Given the description of an element on the screen output the (x, y) to click on. 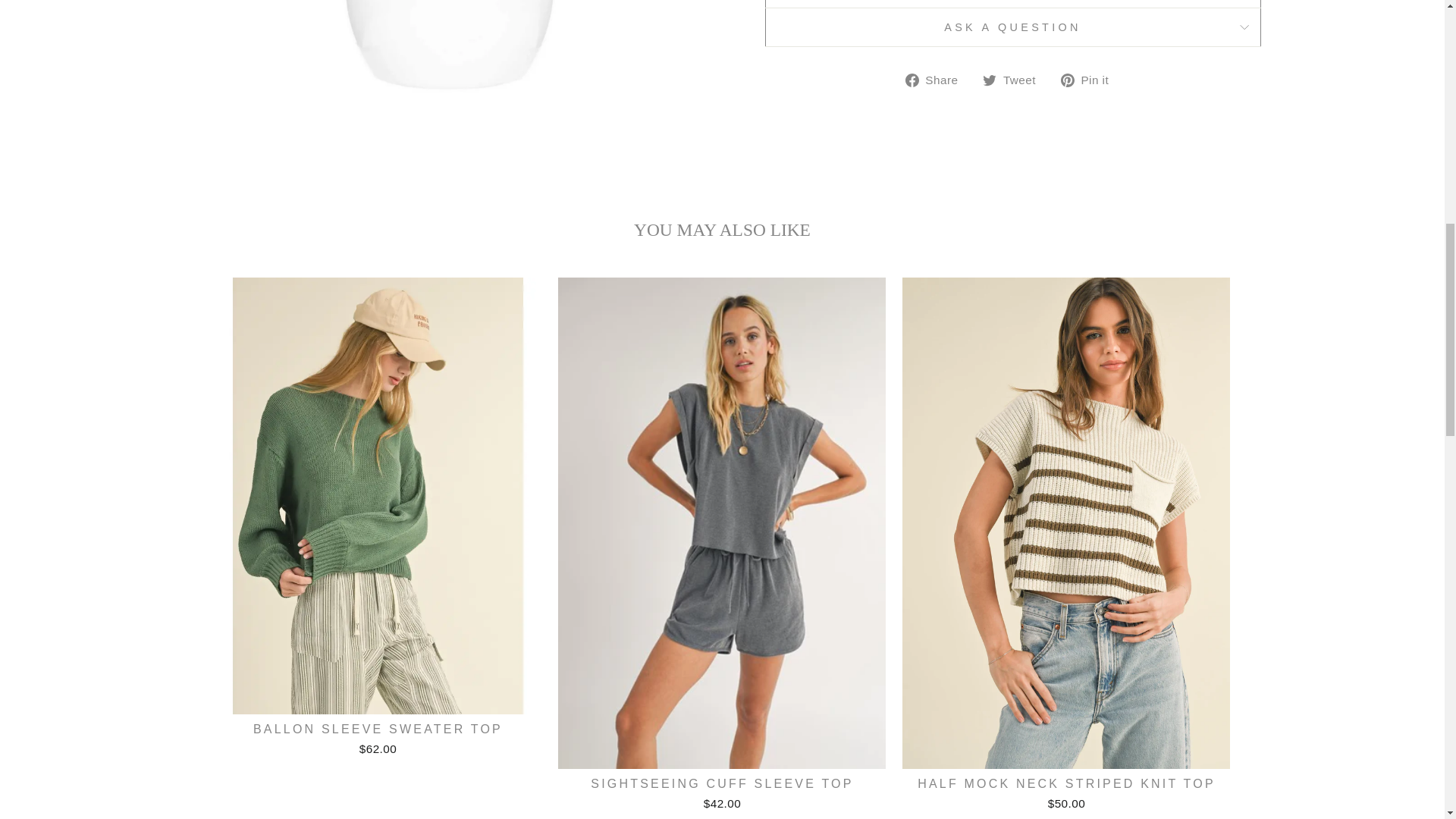
Share on Facebook (937, 78)
Pin on Pinterest (1090, 78)
Tweet on Twitter (1014, 78)
